Given the description of an element on the screen output the (x, y) to click on. 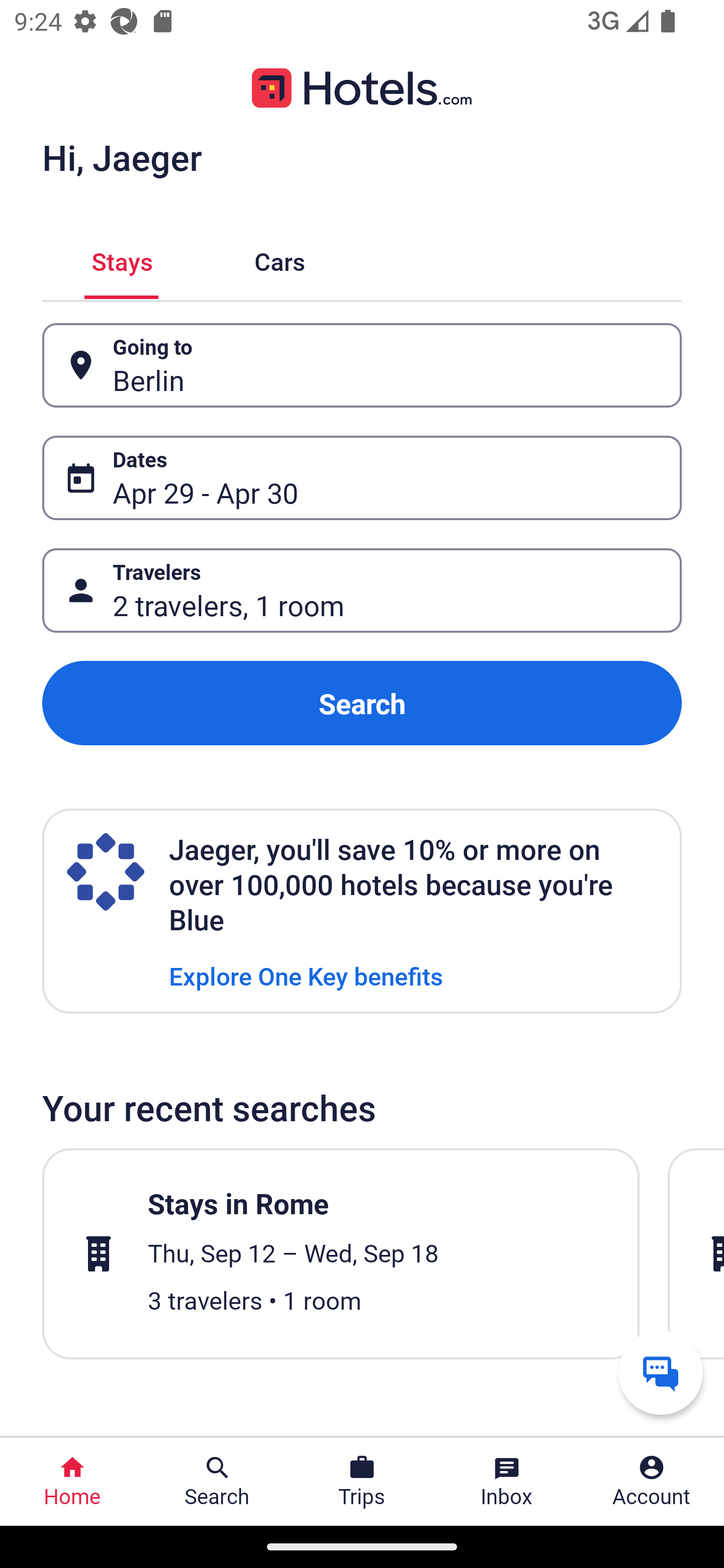
Hi, Jaeger (121, 156)
Cars (279, 259)
Going to Button Berlin (361, 365)
Dates Button Apr 29 - Apr 30 (361, 477)
Travelers Button 2 travelers, 1 room (361, 590)
Search (361, 702)
Get help from a virtual agent (660, 1371)
Search Search Button (216, 1481)
Trips Trips Button (361, 1481)
Inbox Inbox Button (506, 1481)
Account Profile. Button (651, 1481)
